Given the description of an element on the screen output the (x, y) to click on. 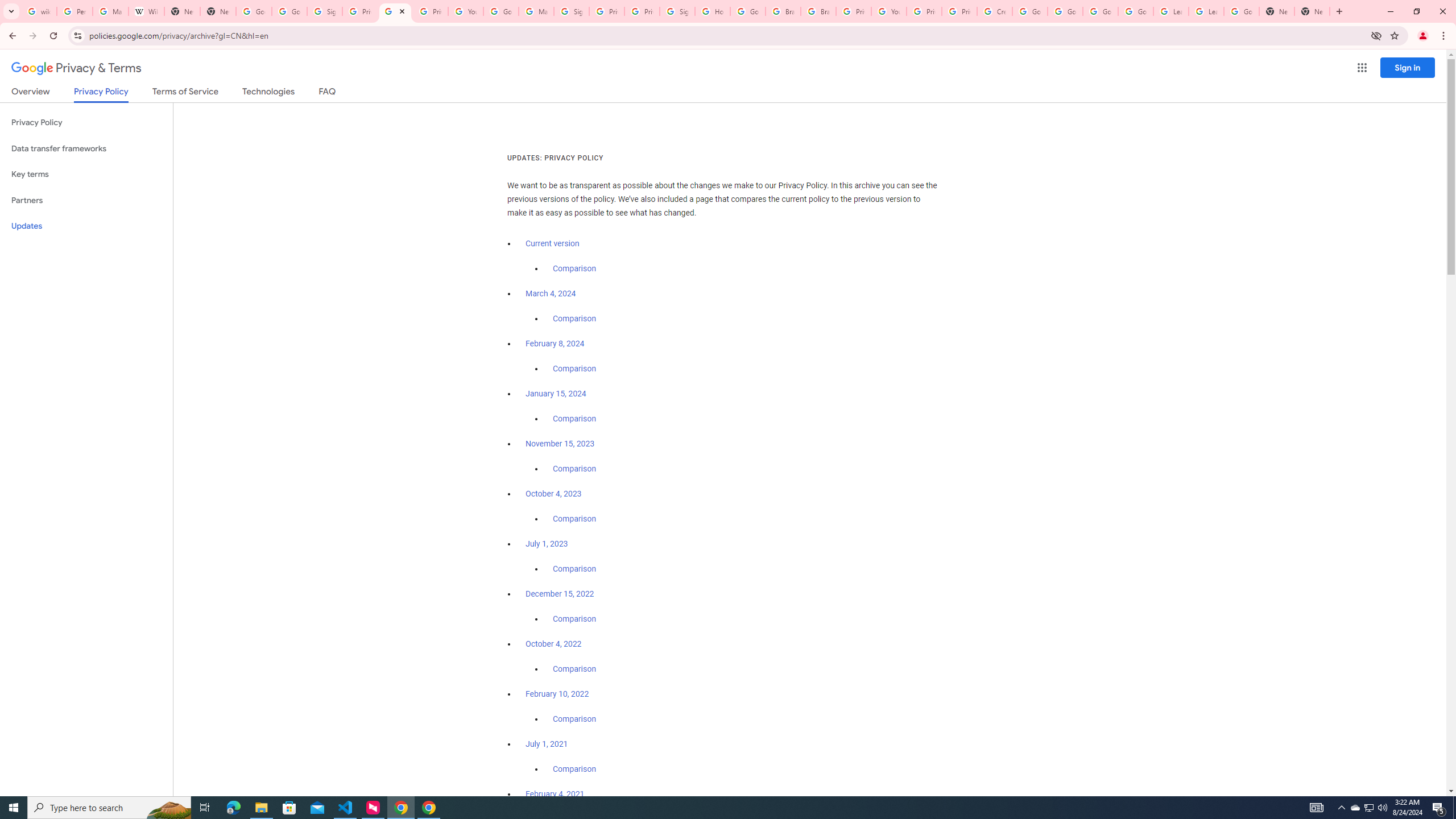
Google Drive: Sign-in (288, 11)
October 4, 2022 (553, 643)
New Tab (218, 11)
Sign in - Google Accounts (571, 11)
